Given the description of an element on the screen output the (x, y) to click on. 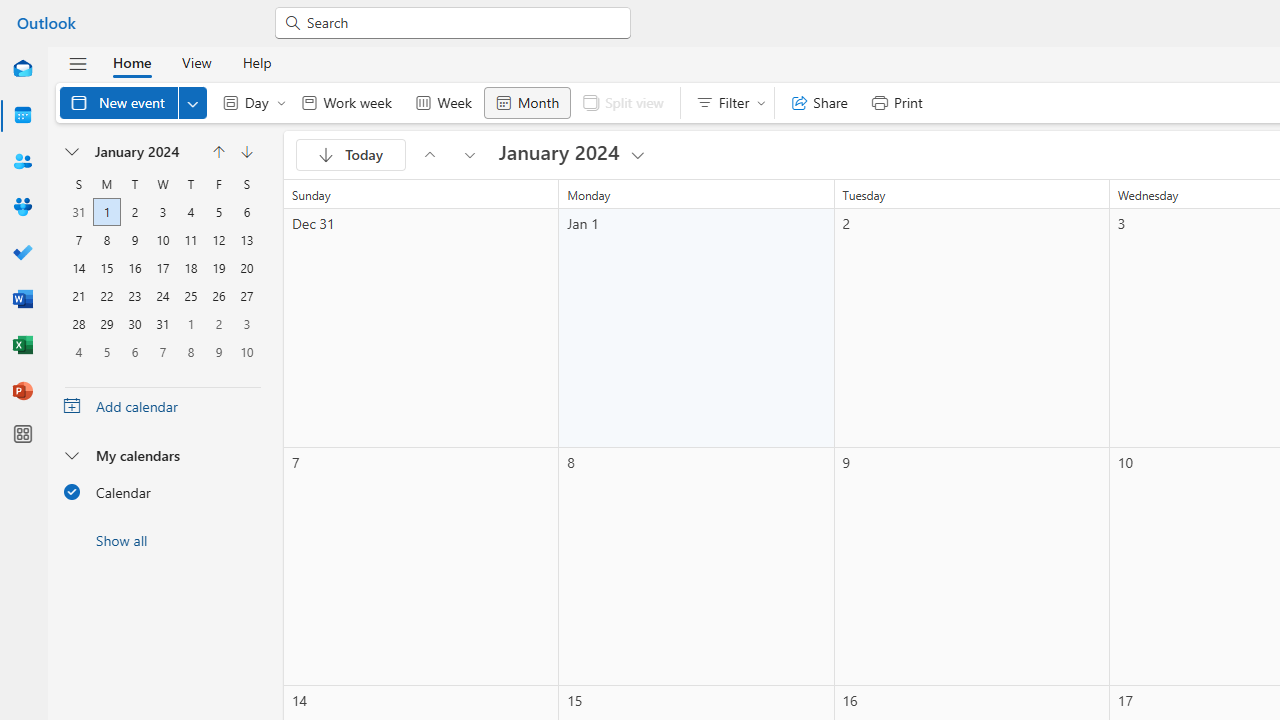
3, January, 2024 (162, 212)
23, January, 2024 (134, 296)
19, January, 2024 (218, 268)
2, February, 2024 (218, 323)
22, January, 2024 (107, 296)
17, January, 2024 (163, 268)
25, January, 2024 (190, 296)
21, January, 2024 (78, 295)
Month (527, 102)
4, January, 2024 (190, 212)
View (196, 61)
15, January, 2024 (107, 268)
7, January, 2024 (78, 239)
People (22, 161)
5, February, 2024 (106, 351)
